Given the description of an element on the screen output the (x, y) to click on. 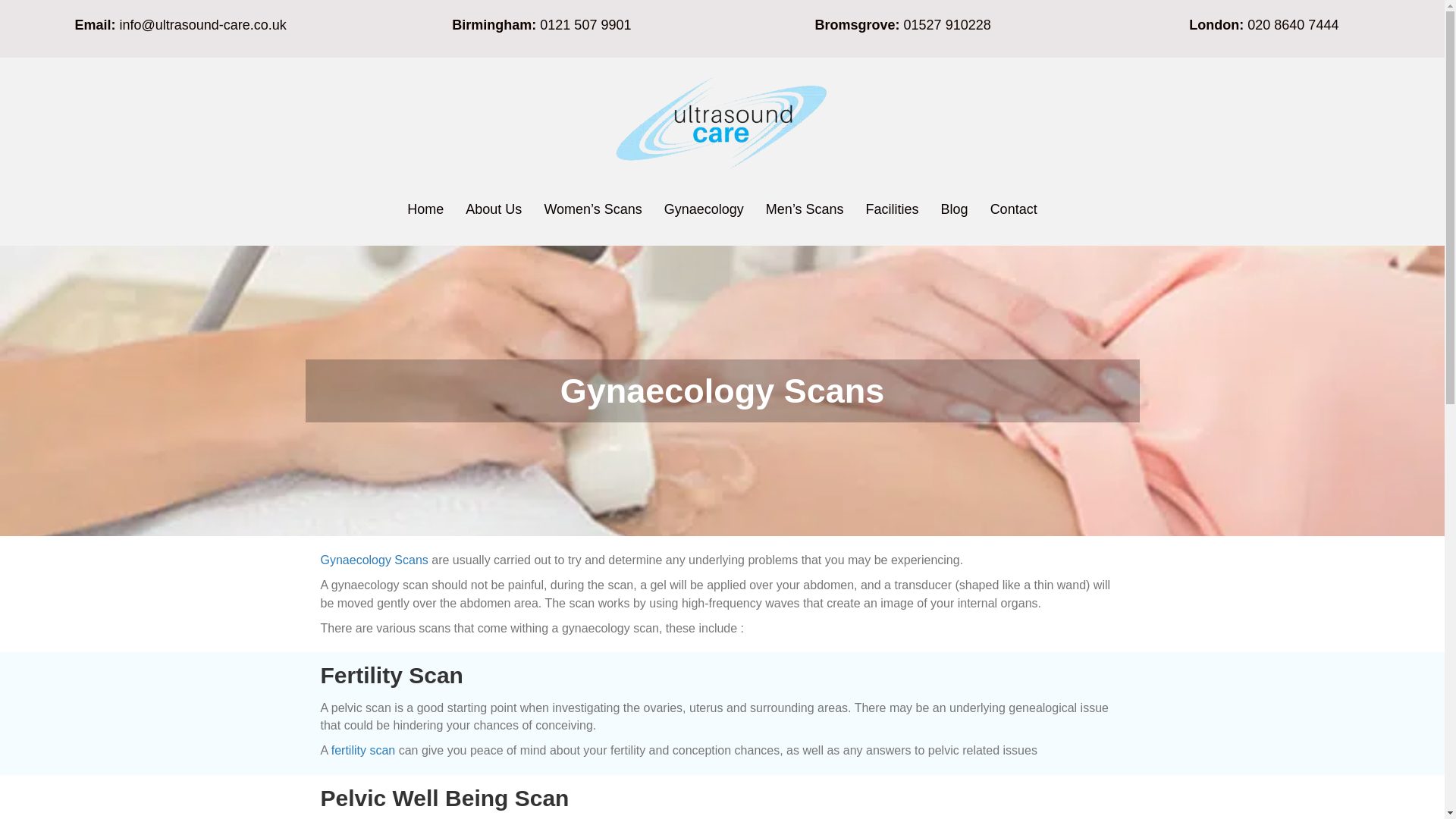
Facilities (893, 208)
01527 910228 (947, 24)
fertility scan (362, 749)
Home (425, 208)
About Us (493, 208)
Gynaecology (703, 208)
020 8640 7444 (1292, 24)
ultrasound-care-logo (721, 118)
Blog (954, 208)
Contact (1013, 208)
Gynaecology Scans (374, 559)
0121 507 9901 (585, 24)
